Given the description of an element on the screen output the (x, y) to click on. 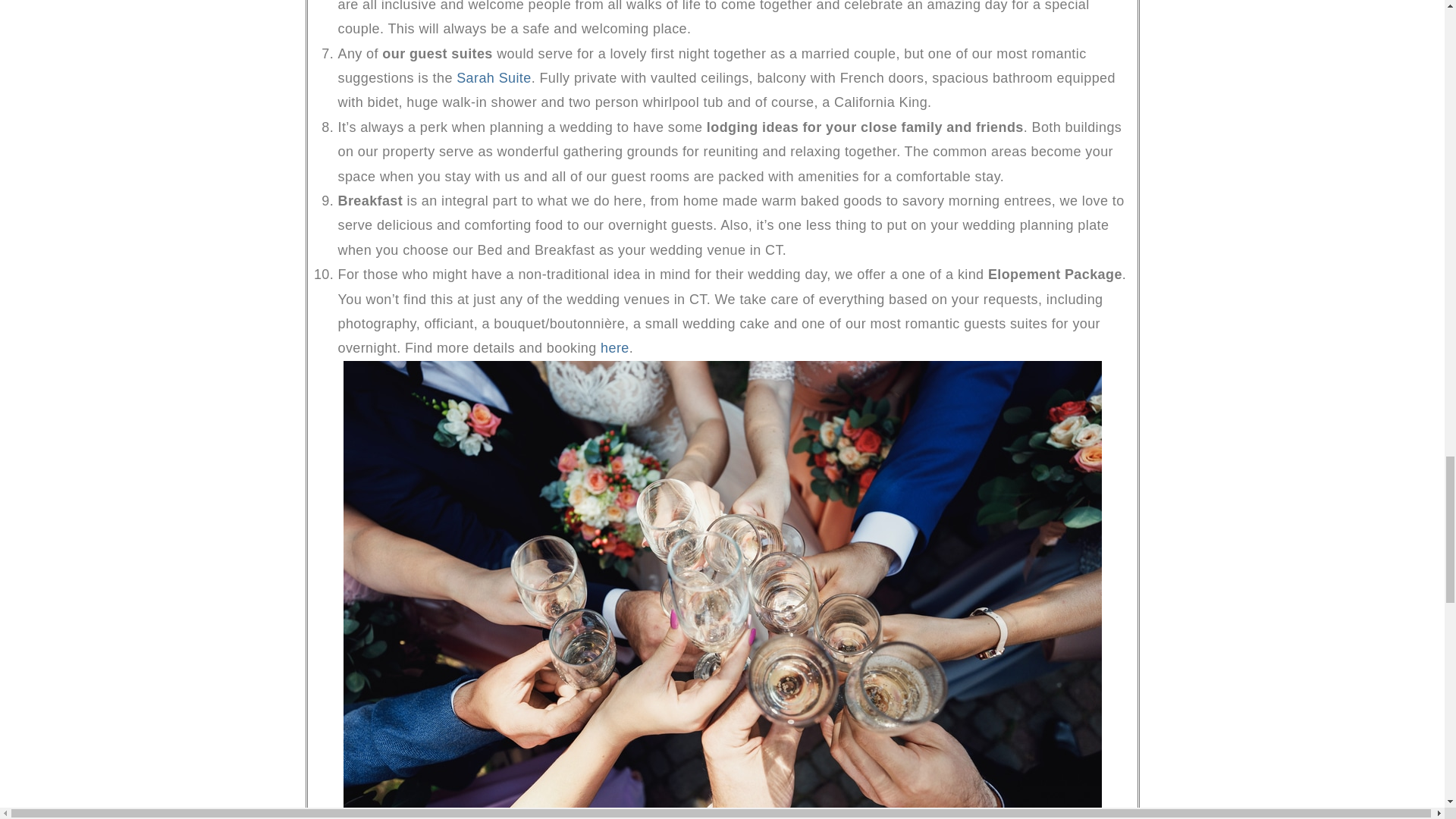
Sarah Suite (494, 77)
here (613, 347)
